Given the description of an element on the screen output the (x, y) to click on. 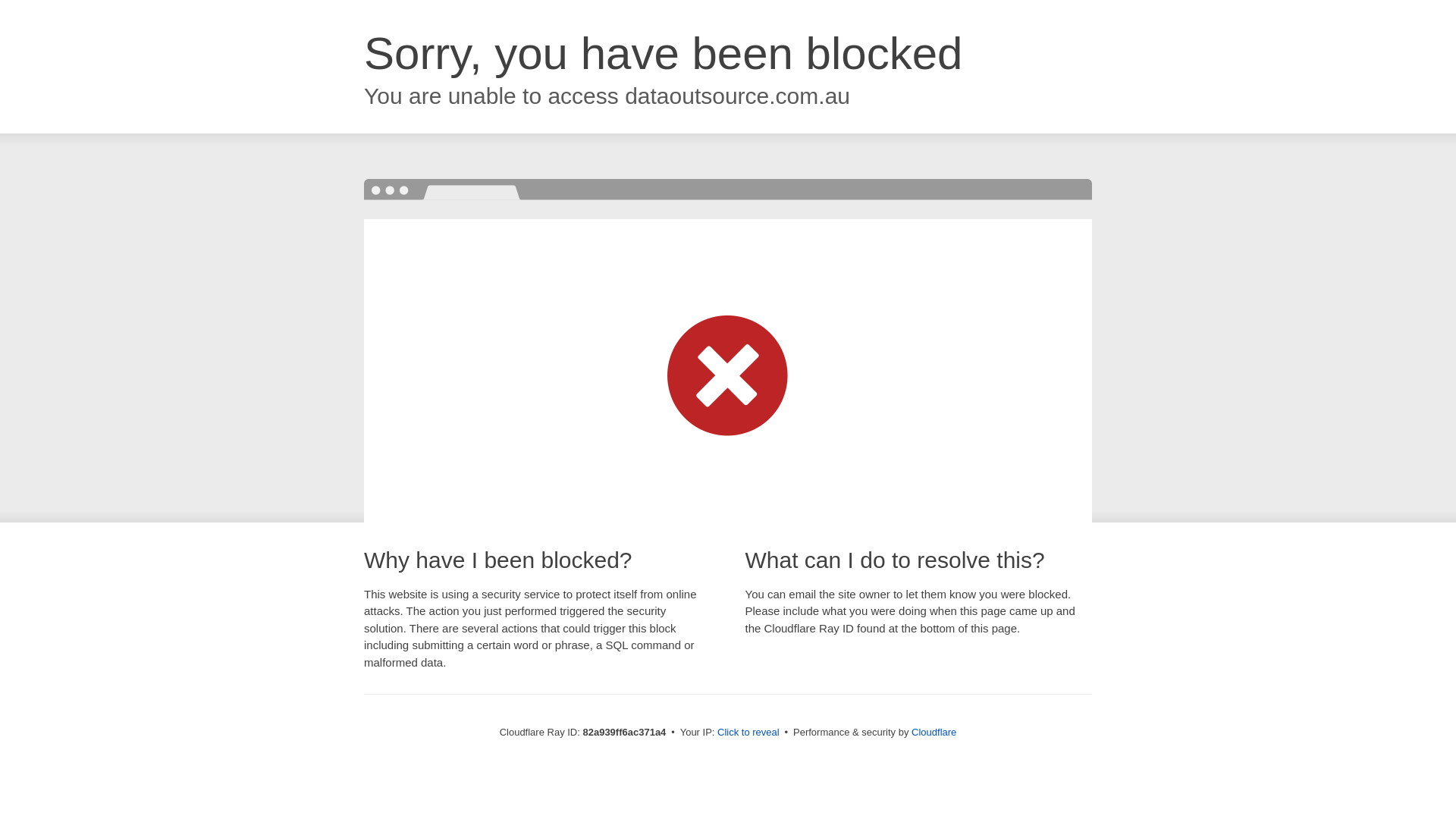
Click to reveal Element type: text (748, 732)
Cloudflare Element type: text (933, 731)
